Given the description of an element on the screen output the (x, y) to click on. 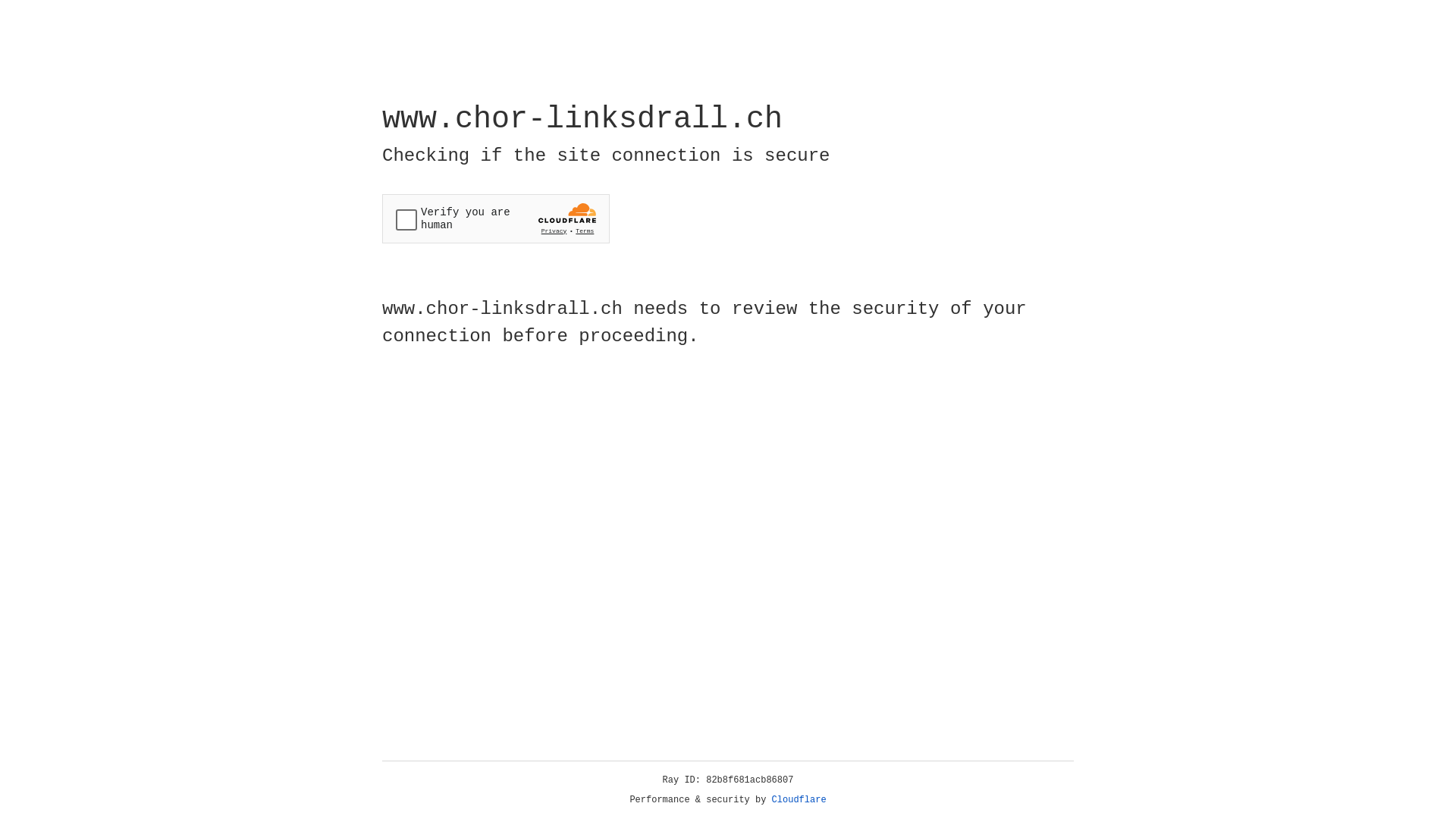
Widget containing a Cloudflare security challenge Element type: hover (495, 218)
Cloudflare Element type: text (798, 799)
